Given the description of an element on the screen output the (x, y) to click on. 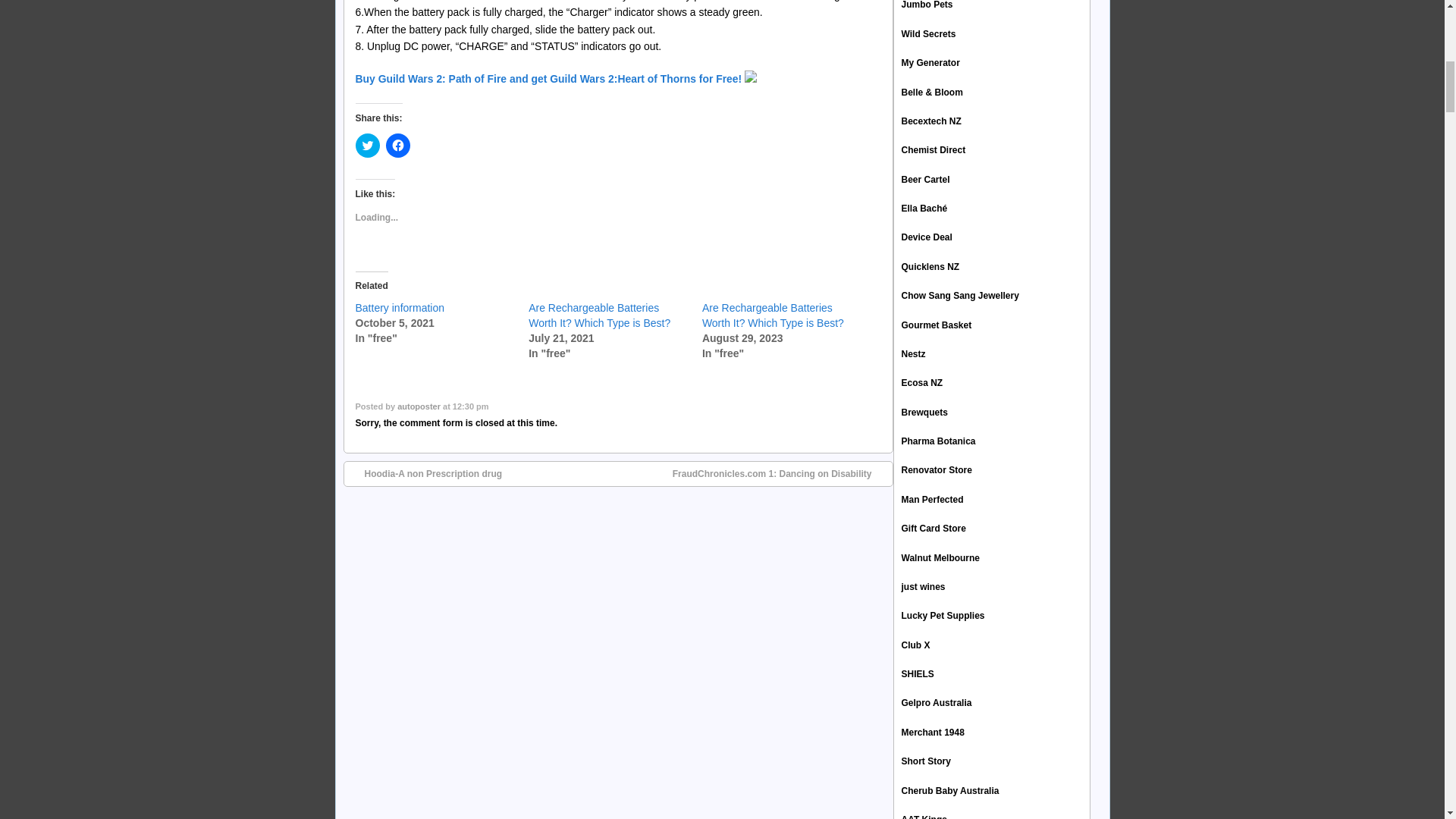
Battery information (399, 307)
Are Rechargeable Batteries Worth It? Which Type is Best? (598, 315)
Click to share on Facebook (397, 145)
autoposter (419, 406)
  Hoodia-A non Prescription drug (425, 473)
Click to share on Twitter (366, 145)
Are Rechargeable Batteries Worth It? Which Type is Best? (772, 315)
Are Rechargeable Batteries Worth It? Which Type is Best? (772, 315)
Are Rechargeable Batteries Worth It? Which Type is Best? (598, 315)
  FraudChronicles.com 1: Dancing on Disability (779, 473)
